Given the description of an element on the screen output the (x, y) to click on. 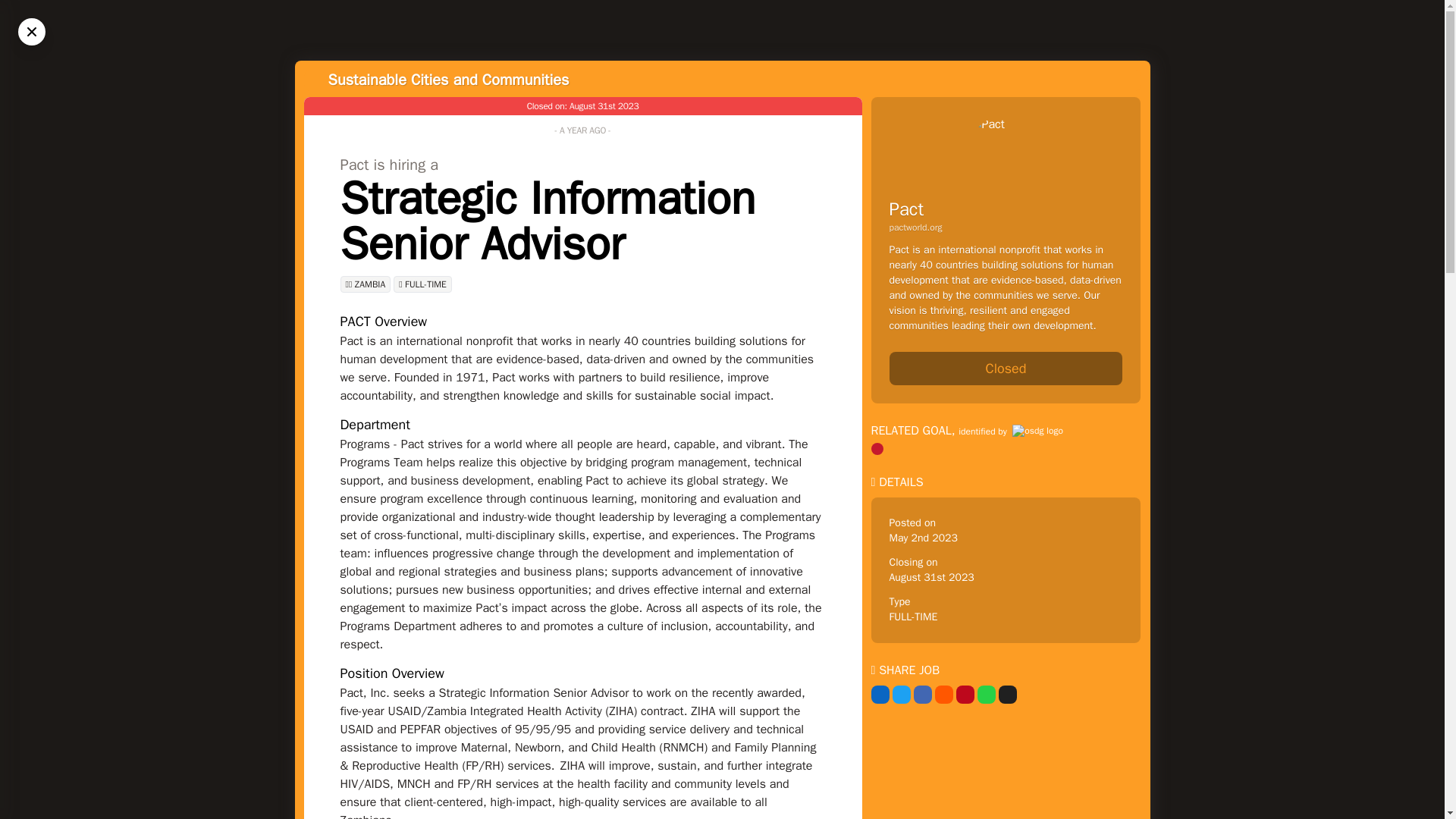
share on reddit (943, 694)
Quality Education sustainability jobs (876, 449)
Sustainable Cities and Communities (448, 79)
Closed (1005, 368)
share on linkedin (879, 694)
share on facebook (921, 694)
share with whatsapp (985, 694)
Pact (905, 209)
share on twitter (900, 694)
pactworld.org (1005, 227)
share with email (1006, 694)
share on pinterest (964, 694)
